Given the description of an element on the screen output the (x, y) to click on. 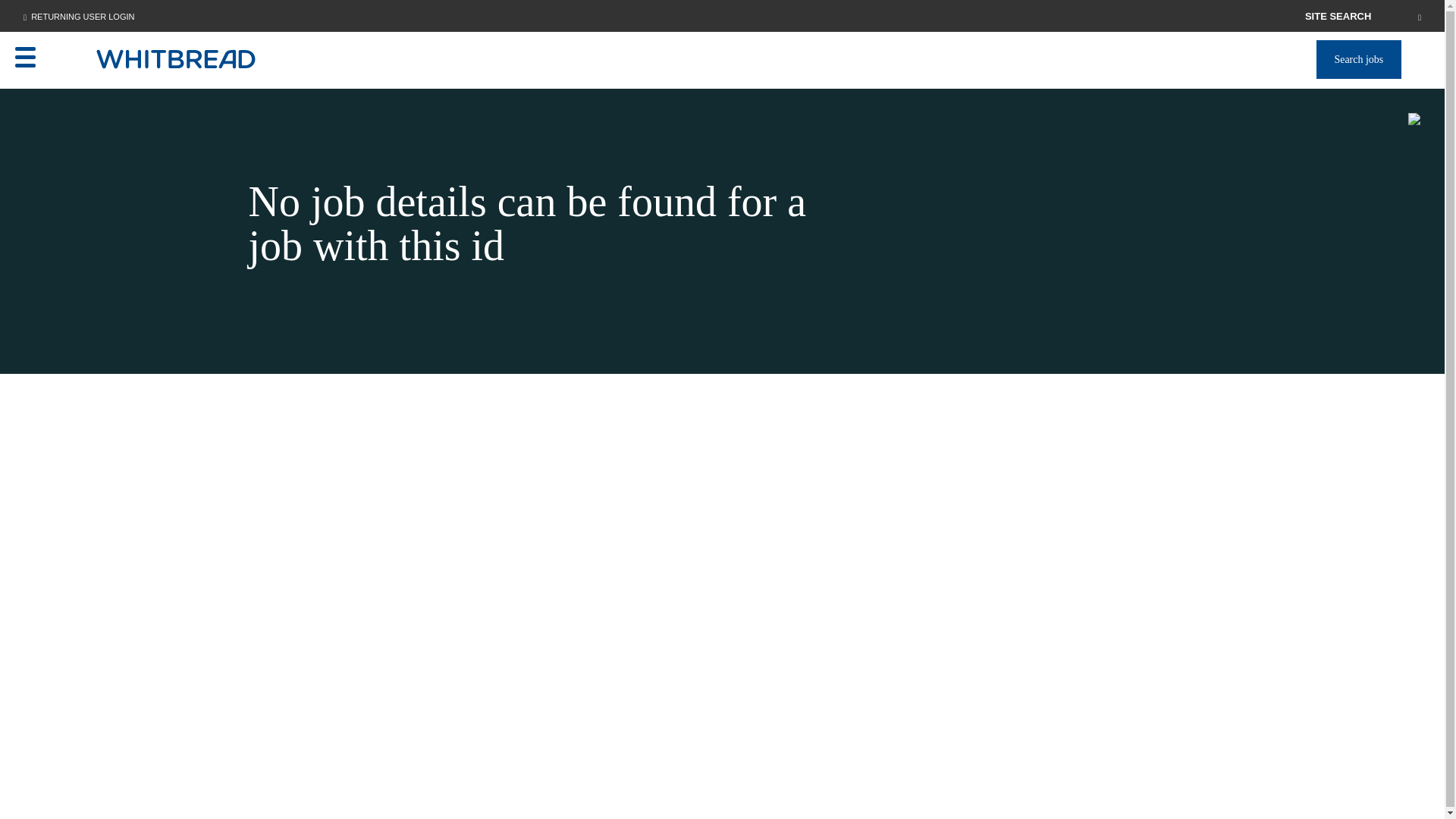
Live chat (1401, 782)
  RETURNING USER LOGIN (78, 15)
Search jobs (1358, 59)
RETURNING USER LOGIN (111, 15)
RETURNING USER LOGIN (81, 16)
